Given the description of an element on the screen output the (x, y) to click on. 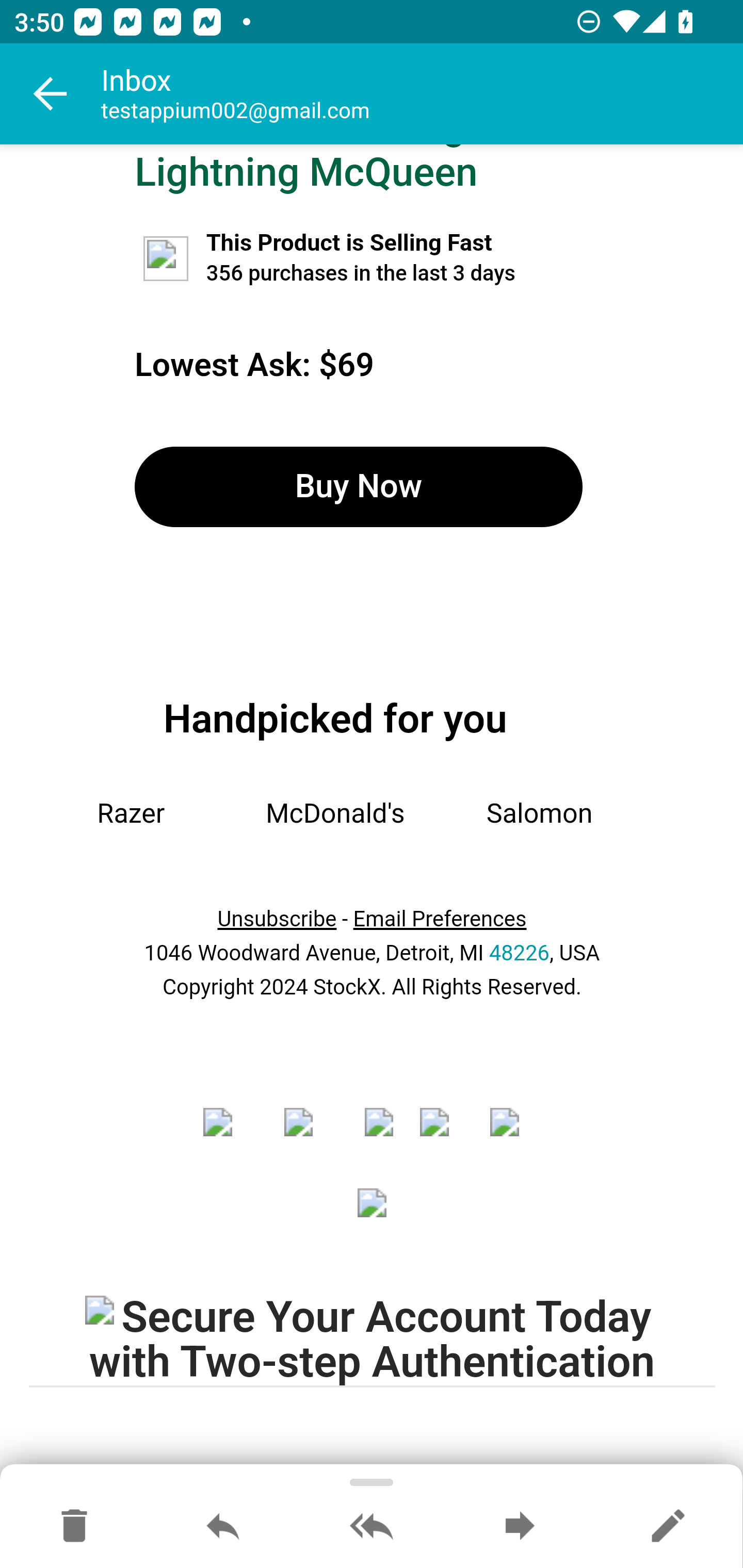
Navigate up (50, 93)
Inbox testappium002@gmail.com (422, 93)
Crocs Classic Clog Lightning McQueen (305, 170)
Buy Now (357, 487)
Handpicked for you (334, 718)
Unsubscribe (276, 919)
Email Preferences (439, 919)
48226 (518, 953)
facebook (229, 1135)
twitter (311, 1135)
instagram (378, 1135)
YouTube (441, 1135)
Discord (511, 1135)
App Store (372, 1215)
Move to Deleted (74, 1527)
Reply (222, 1527)
Reply all (371, 1527)
Forward (519, 1527)
Reply as new (667, 1527)
